Given the description of an element on the screen output the (x, y) to click on. 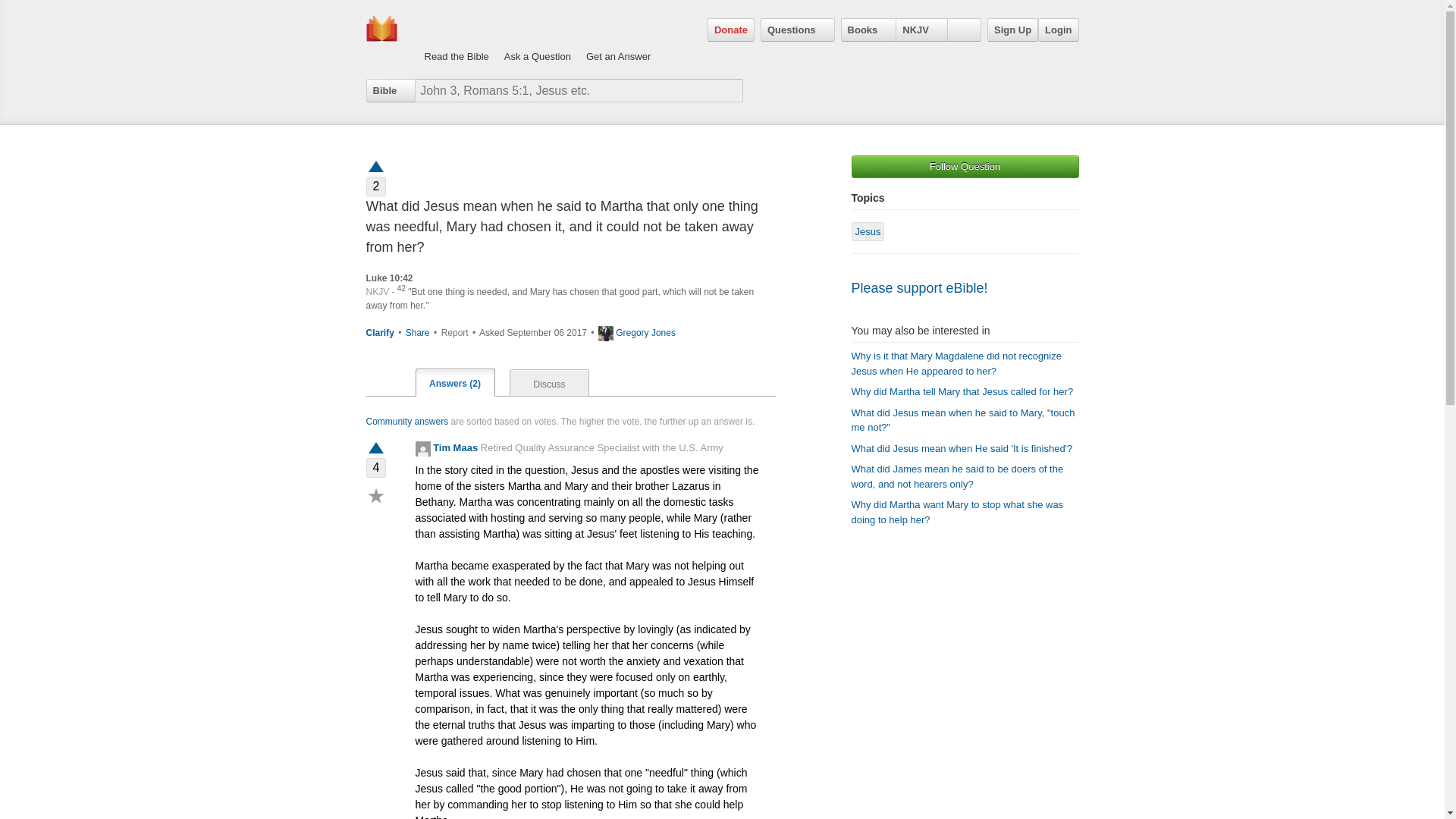
Vote Up (375, 449)
Get an Answer (618, 41)
Read the Bible (457, 41)
Donate (730, 29)
Vote Question Up (375, 165)
Questions (797, 29)
Ask a Question (536, 41)
Books (868, 29)
